Given the description of an element on the screen output the (x, y) to click on. 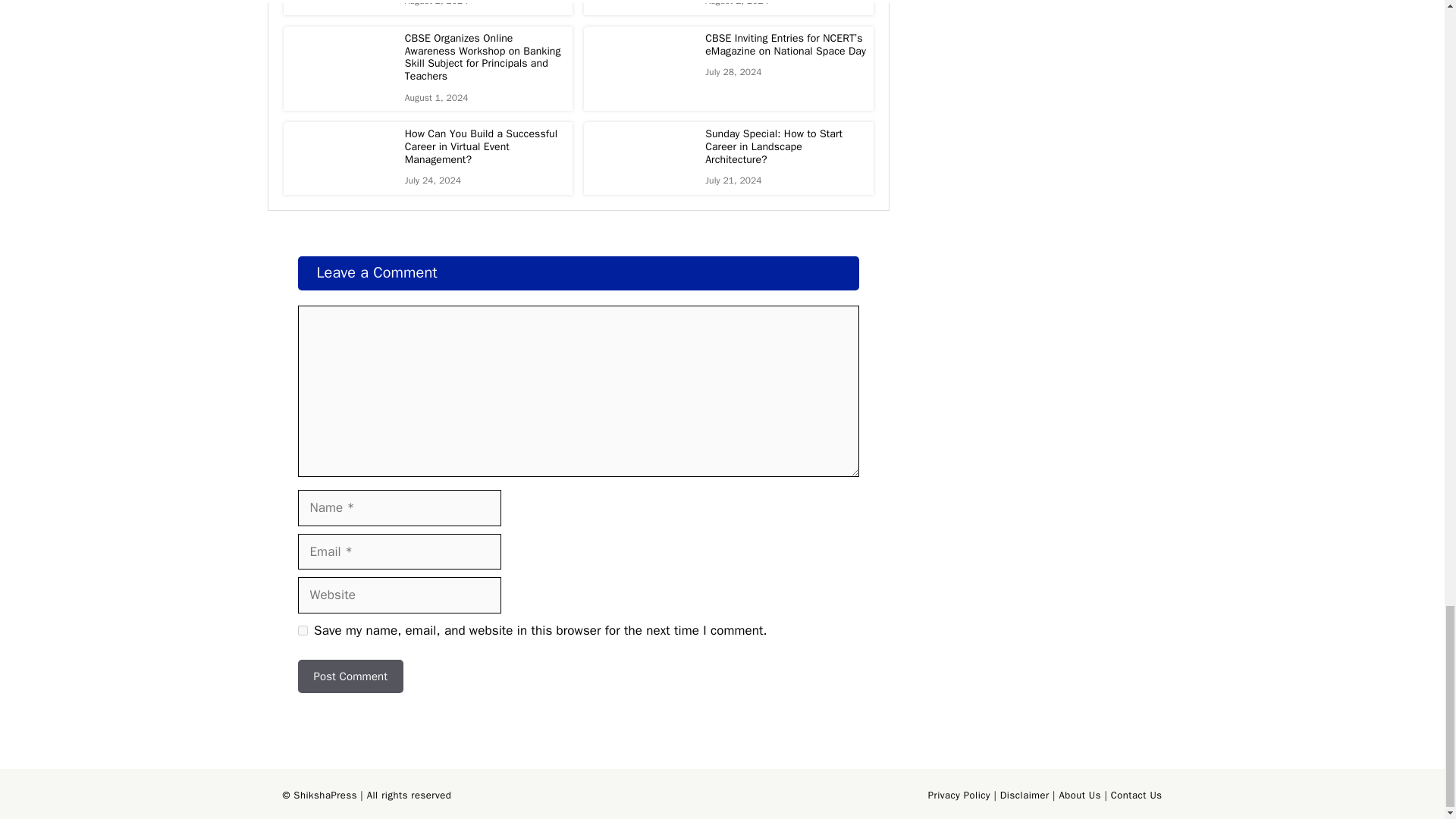
Post Comment (350, 676)
yes (302, 630)
